Given the description of an element on the screen output the (x, y) to click on. 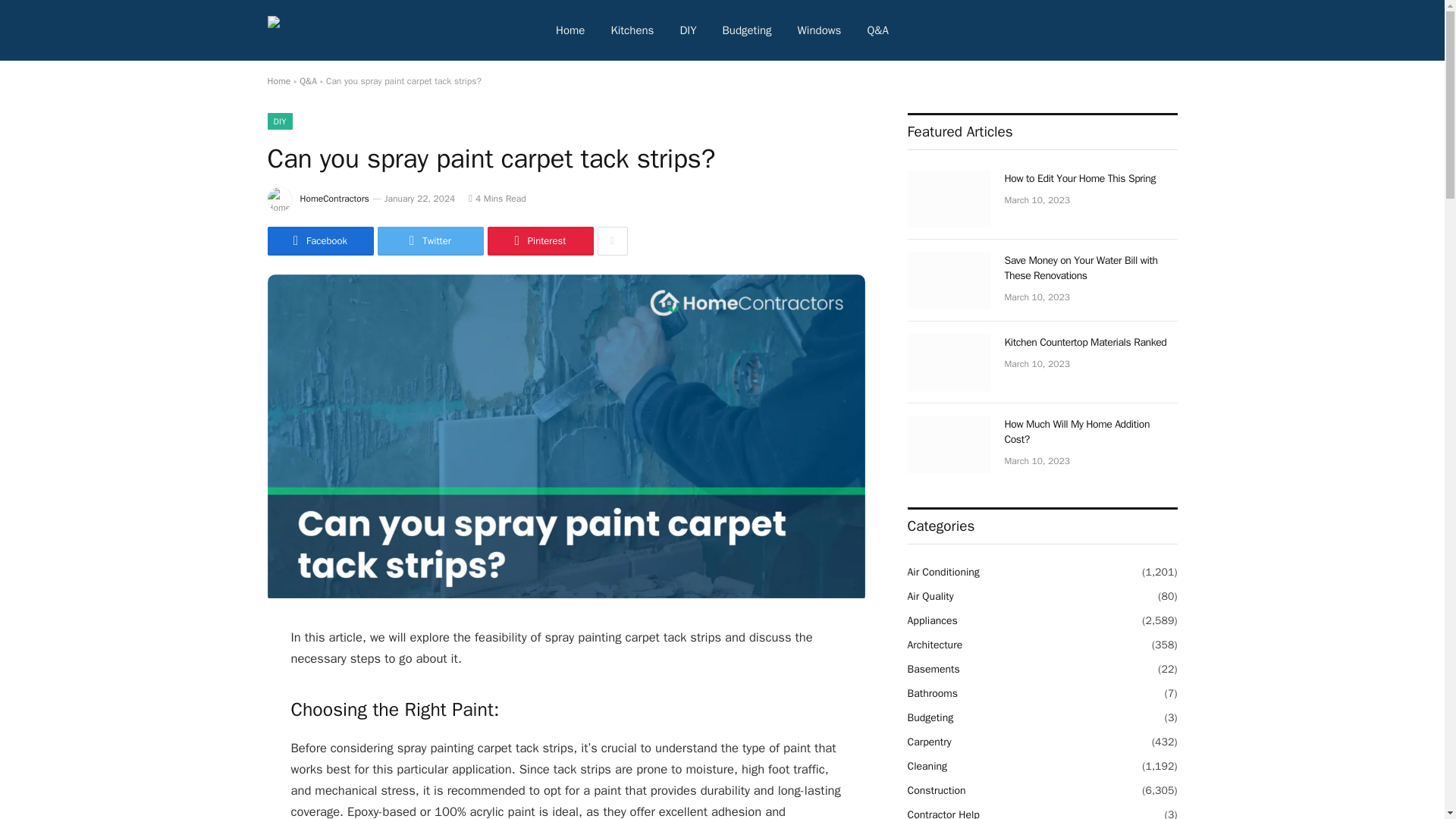
Budgeting (747, 30)
Share on Facebook (319, 240)
HomeContractors (334, 198)
Windows (819, 30)
Share on Pinterest (539, 240)
Pinterest (539, 240)
DIY (279, 121)
Posts by HomeContractors (334, 198)
Twitter (430, 240)
Kitchens (631, 30)
